Given the description of an element on the screen output the (x, y) to click on. 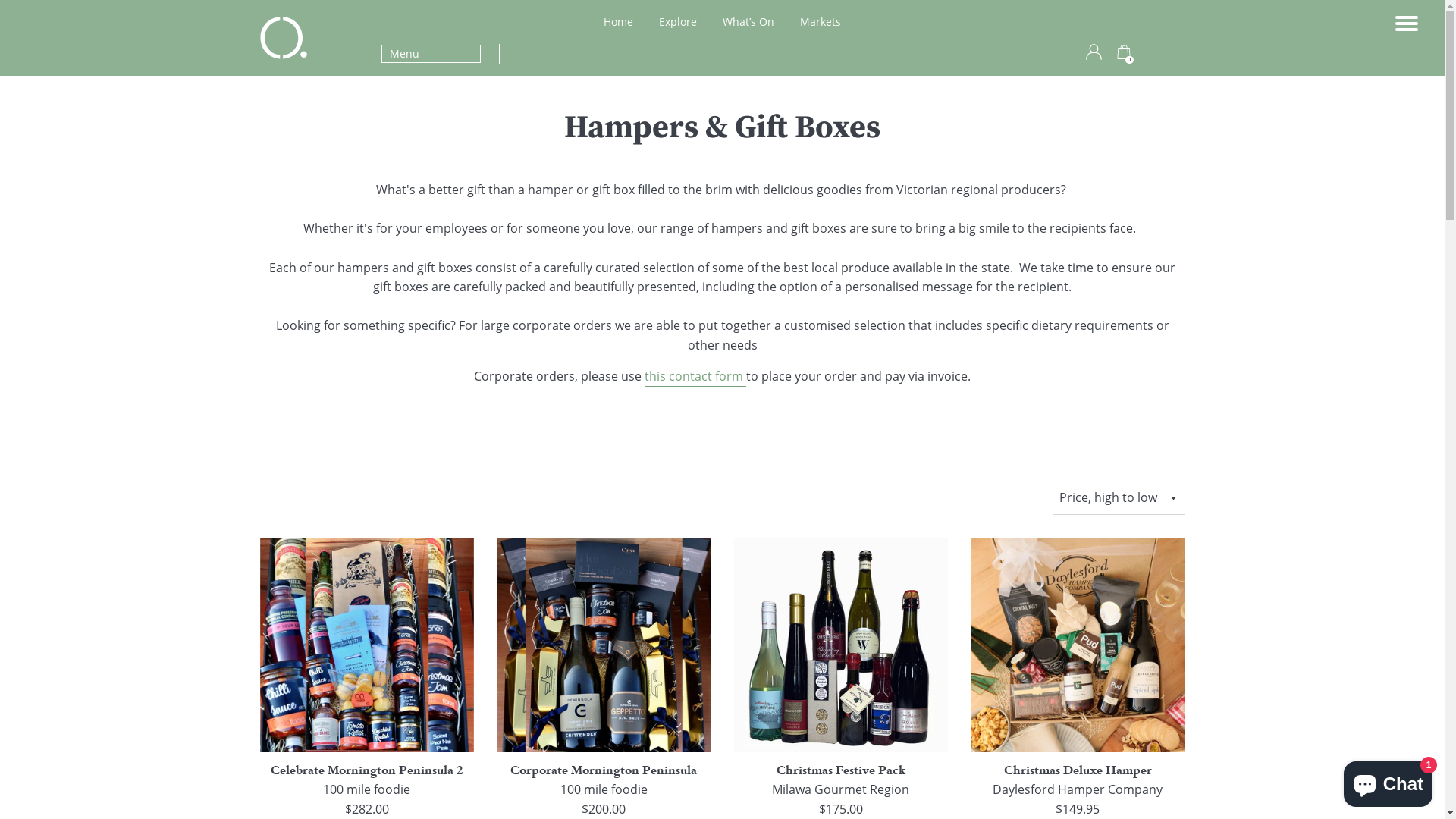
Corporate Mornington Peninsula Element type: text (603, 769)
Christmas Festive Pack Element type: hover (841, 644)
0 Element type: text (1124, 55)
Celebrate Mornington Peninsula 2 Element type: hover (366, 644)
Christmas Deluxe Hamper Element type: text (1077, 769)
this contact form Element type: text (695, 376)
Corporate Mornington Peninsula Element type: hover (603, 644)
Markets Element type: text (820, 21)
Home Element type: text (618, 21)
Christmas Festive Pack Element type: text (840, 769)
Christmas Deluxe Hamper Element type: hover (1077, 644)
Explore Element type: text (677, 21)
Shopify online store chat Element type: hover (1388, 780)
Celebrate Mornington Peninsula 2 Element type: text (366, 769)
